Given the description of an element on the screen output the (x, y) to click on. 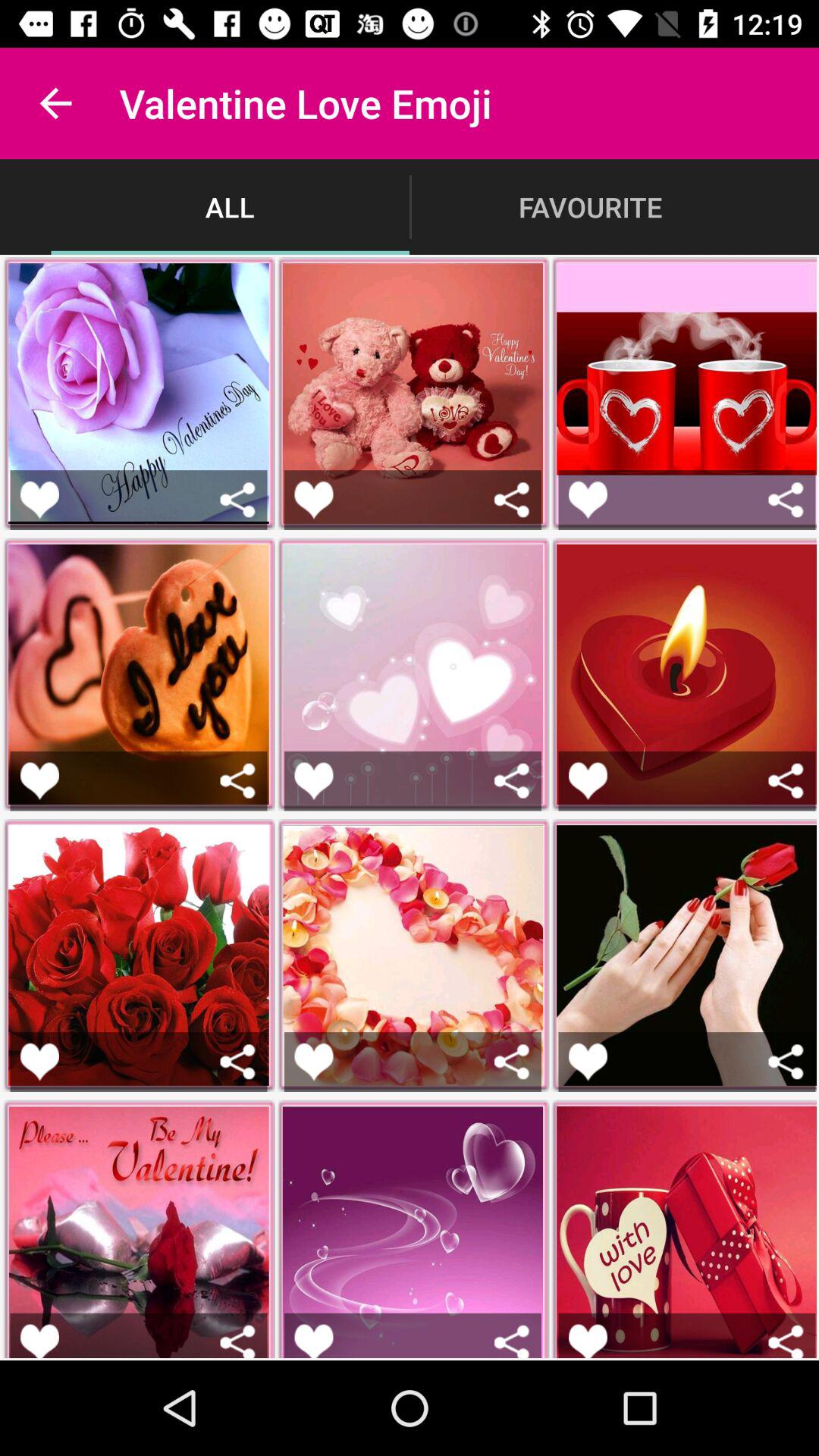
share the article (511, 1061)
